Given the description of an element on the screen output the (x, y) to click on. 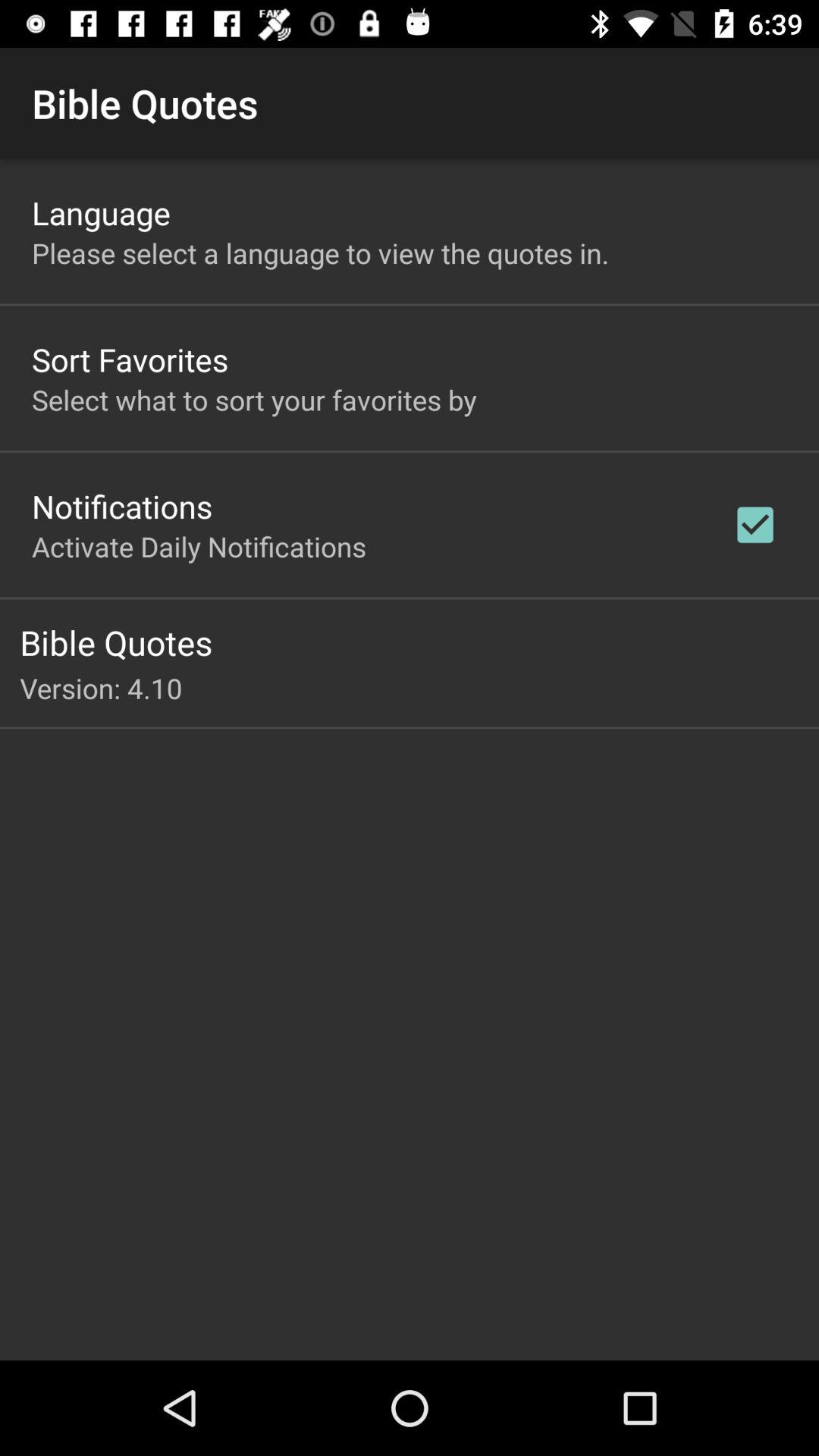
press the activate daily notifications (198, 546)
